Given the description of an element on the screen output the (x, y) to click on. 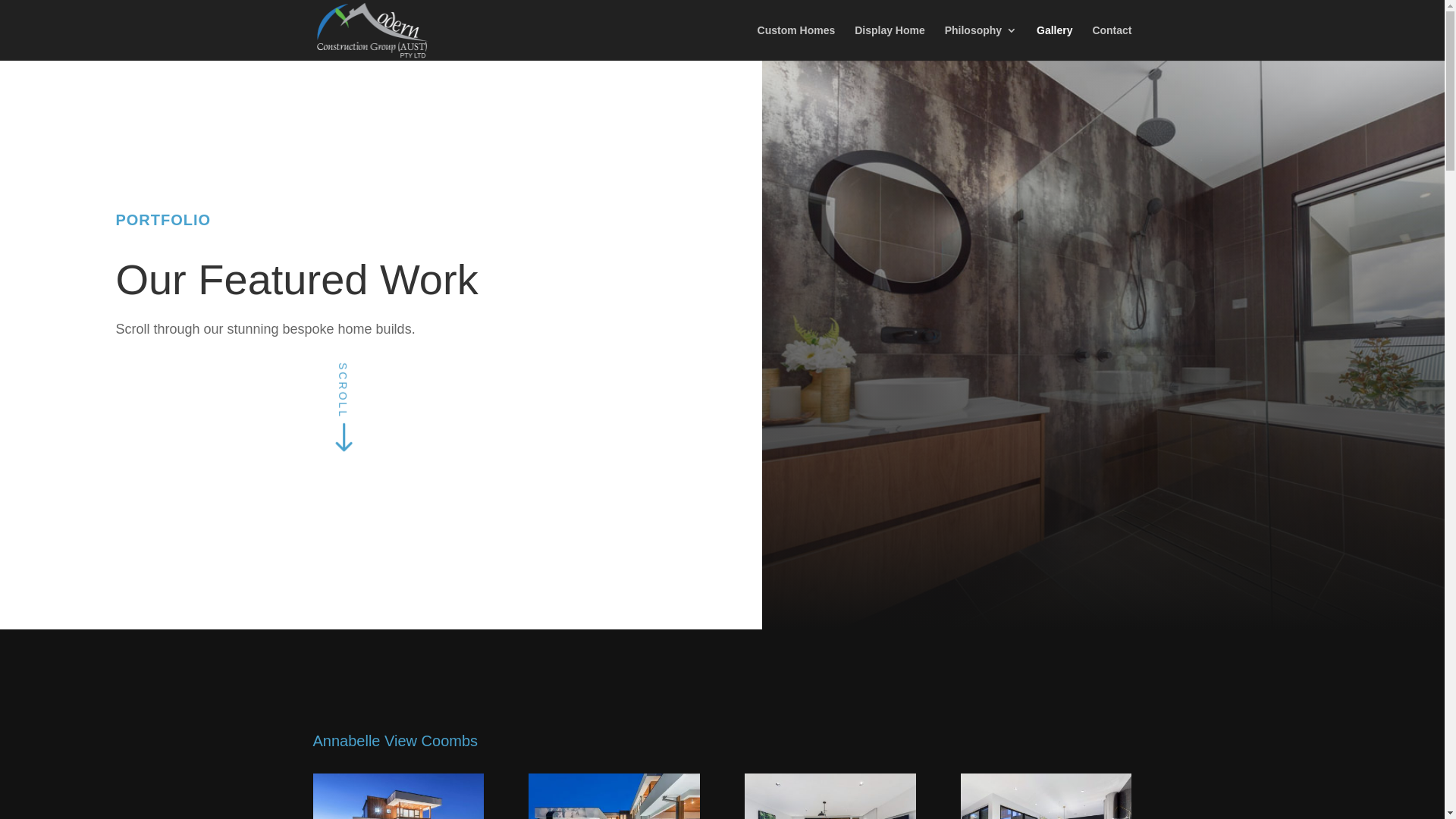
Contact Element type: text (1111, 42)
Display Home Element type: text (889, 42)
Custom Homes Element type: text (796, 42)
Gallery Element type: text (1054, 42)
Philosophy Element type: text (980, 42)
